Given the description of an element on the screen output the (x, y) to click on. 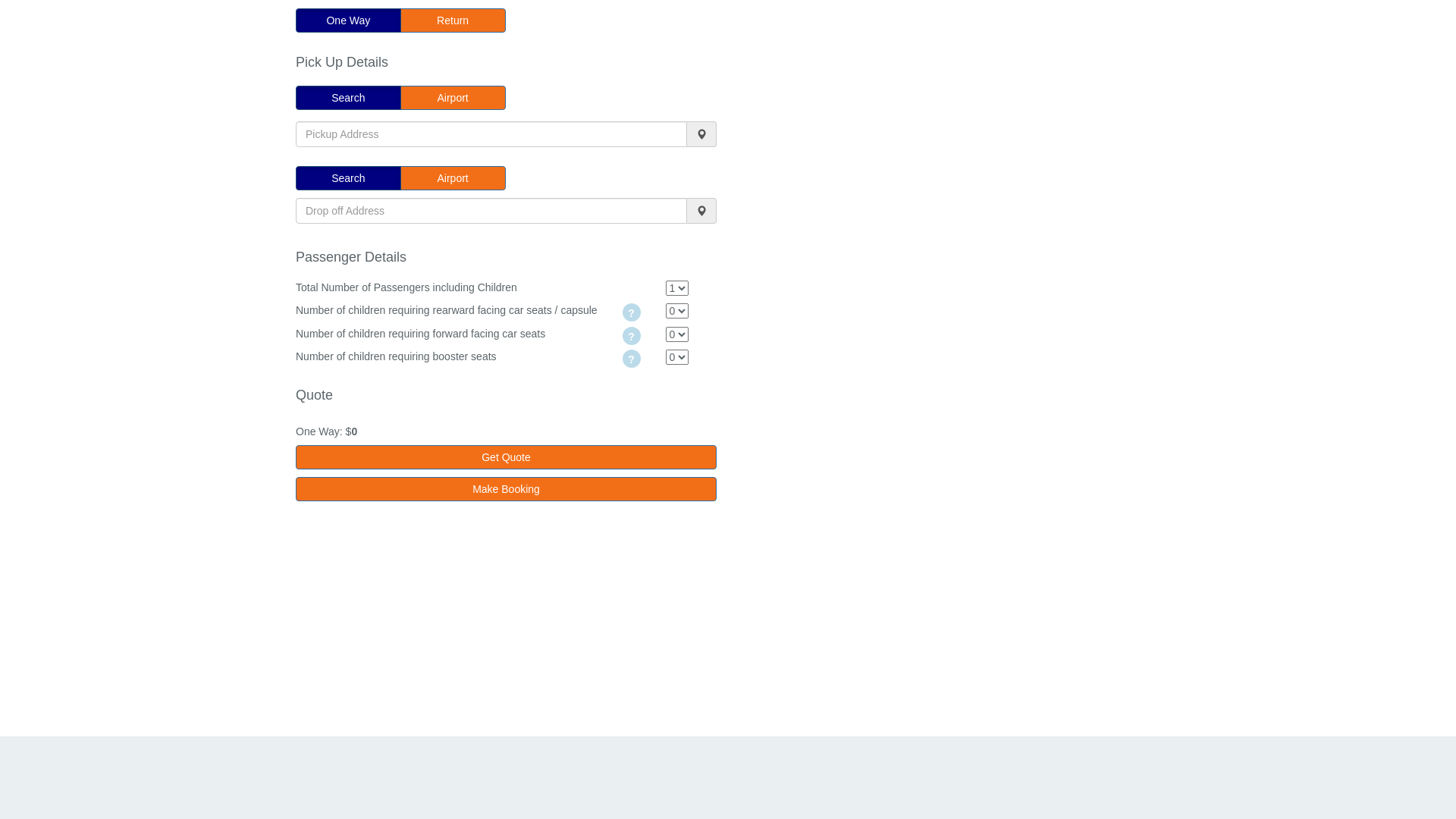
Make Booking Element type: text (505, 488)
Get Quote Element type: text (505, 457)
